Given the description of an element on the screen output the (x, y) to click on. 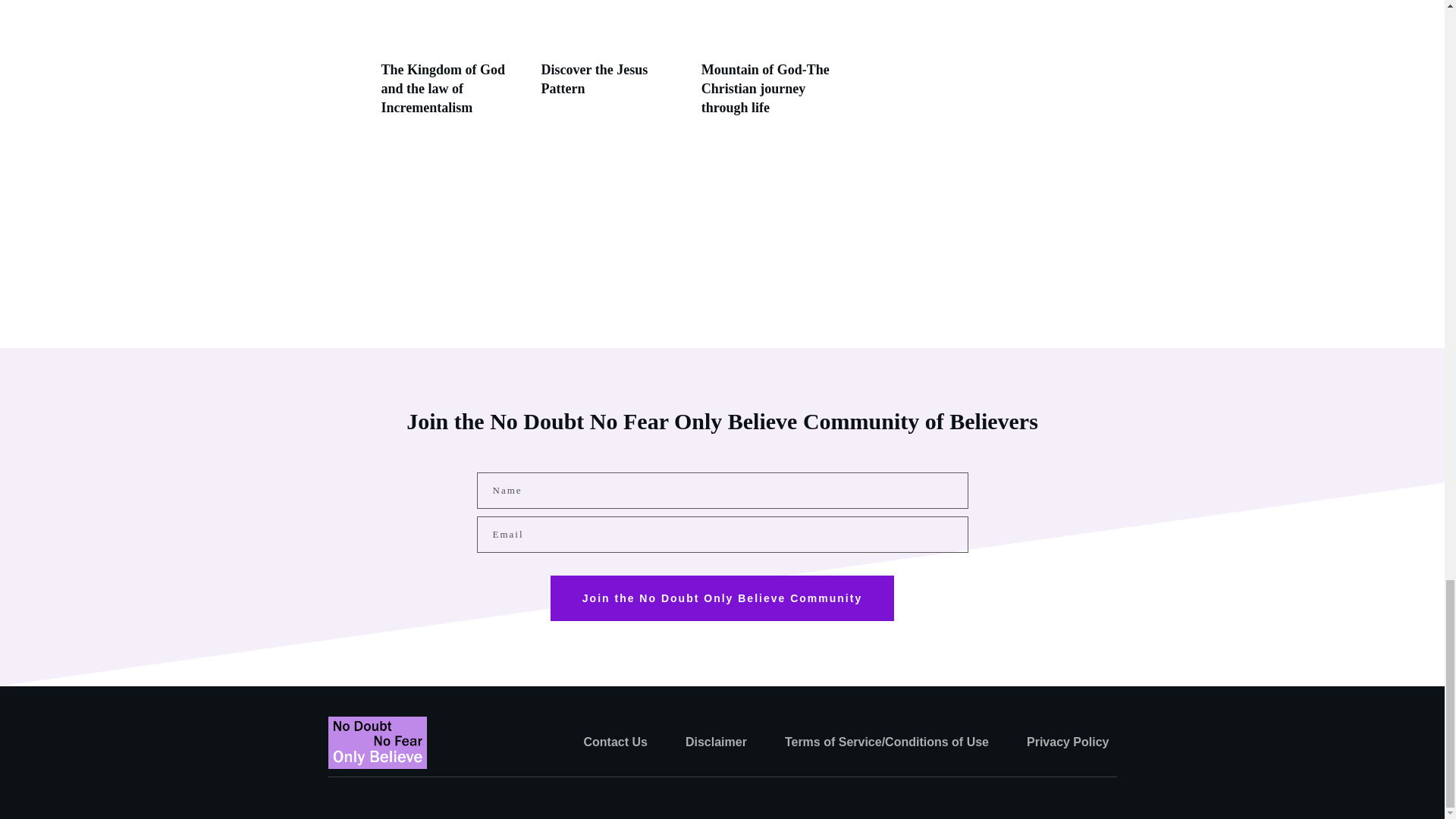
The Kingdom of God and the law of Incrementalism (442, 88)
Mountain of God-The Christian journey through life (765, 88)
The Kingdom of God and the law of Incrementalism (452, 66)
Discover the Jesus Pattern (613, 66)
The Kingdom of God and the law of Incrementalism (442, 88)
Discover the Jesus Pattern (594, 79)
Discover the Jesus Pattern (594, 79)
